Given the description of an element on the screen output the (x, y) to click on. 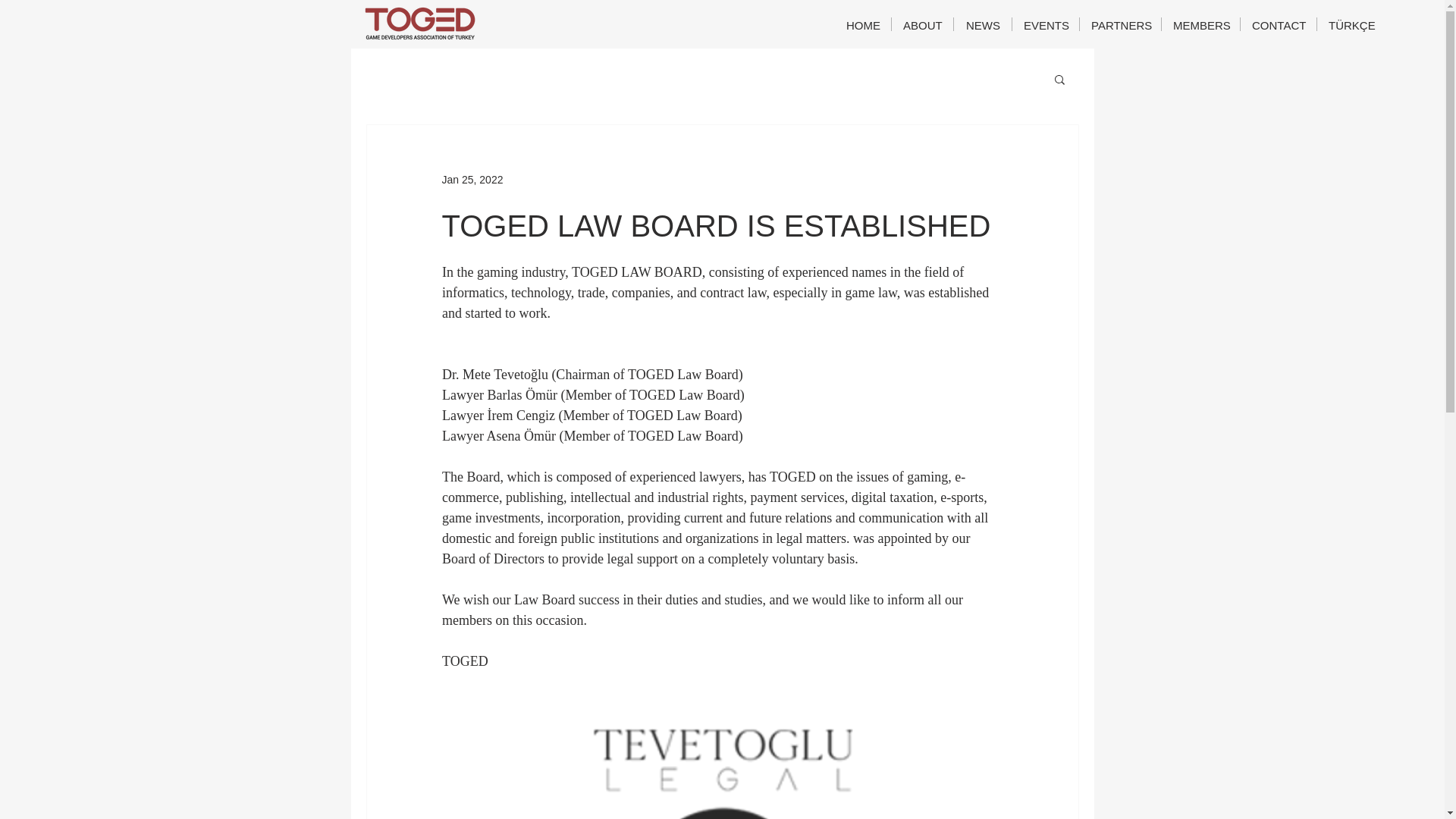
HOME (862, 24)
PARTNERS (1120, 24)
EVENTS (1044, 24)
NEWS (982, 24)
Jan 25, 2022 (471, 178)
MEMBERS (1200, 24)
CONTACT (1278, 24)
ABOUT (922, 24)
